Given the description of an element on the screen output the (x, y) to click on. 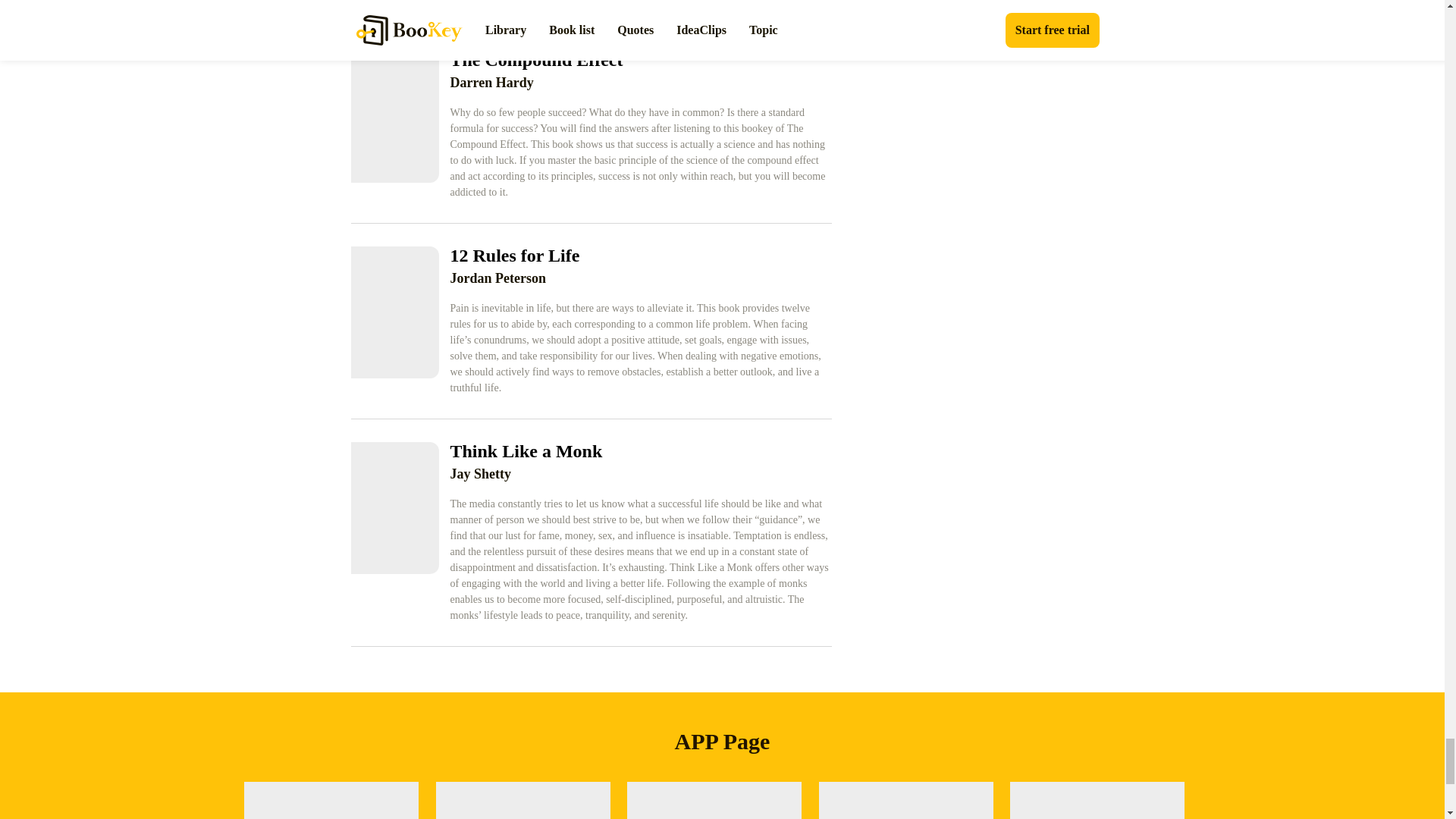
Think Like a Monk (640, 451)
12 Rules for Life (640, 255)
The Compound Effect (640, 59)
